Given the description of an element on the screen output the (x, y) to click on. 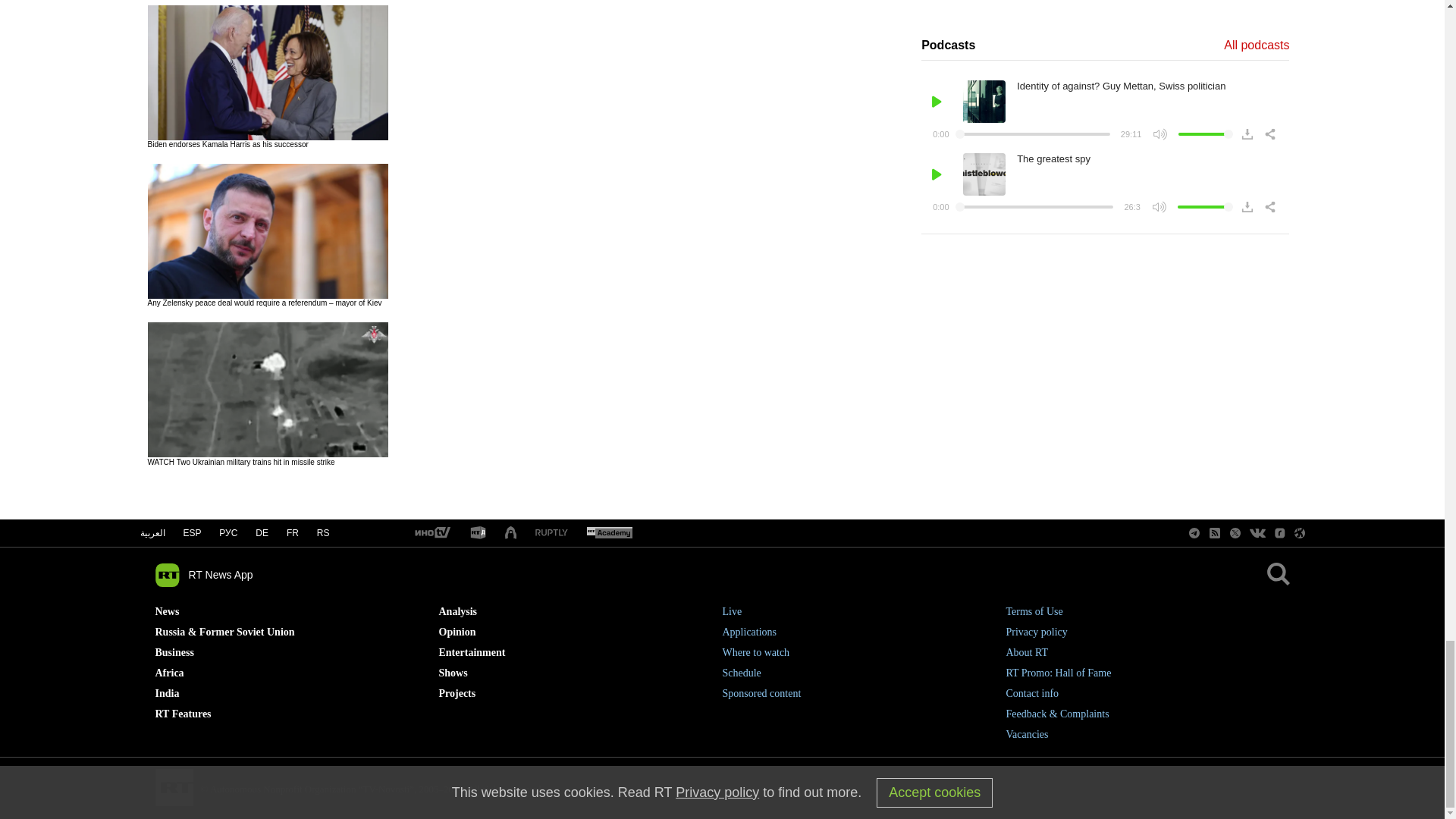
RT  (551, 533)
RT  (431, 533)
RT  (478, 533)
RT  (608, 533)
